Given the description of an element on the screen output the (x, y) to click on. 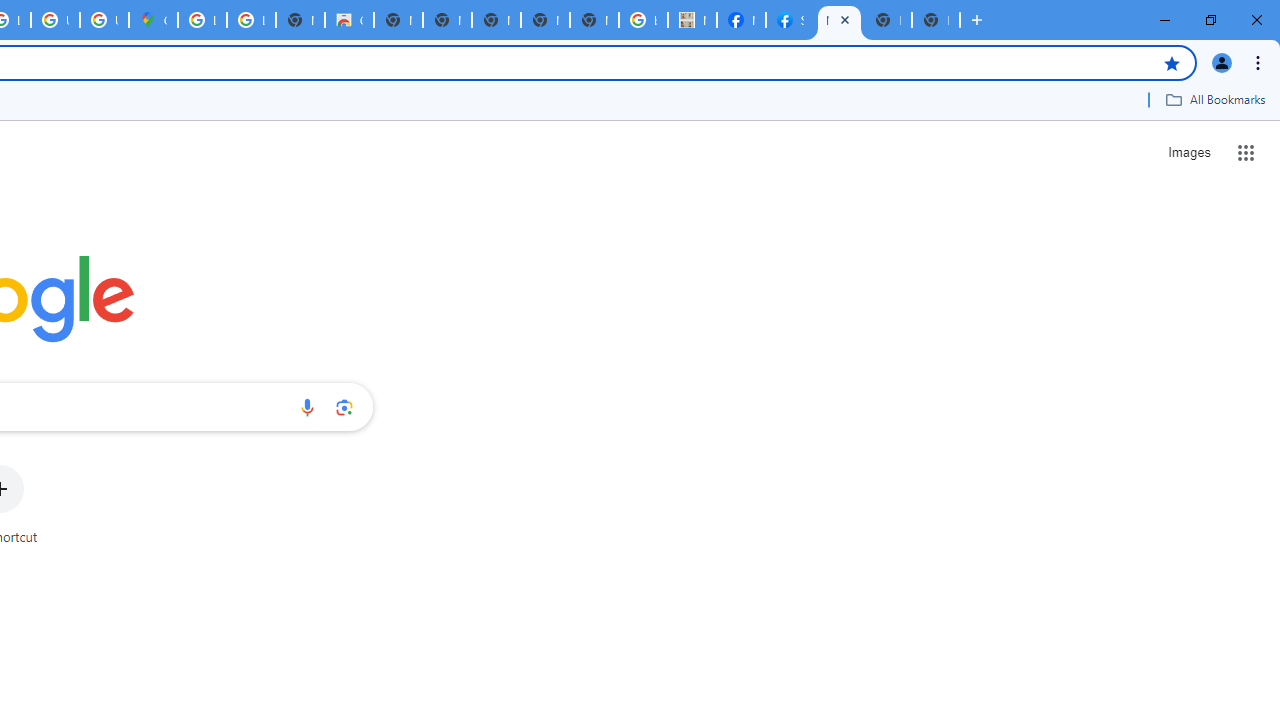
New Tab (935, 20)
Chrome Web Store (349, 20)
Sign Up for Facebook (790, 20)
